Given the description of an element on the screen output the (x, y) to click on. 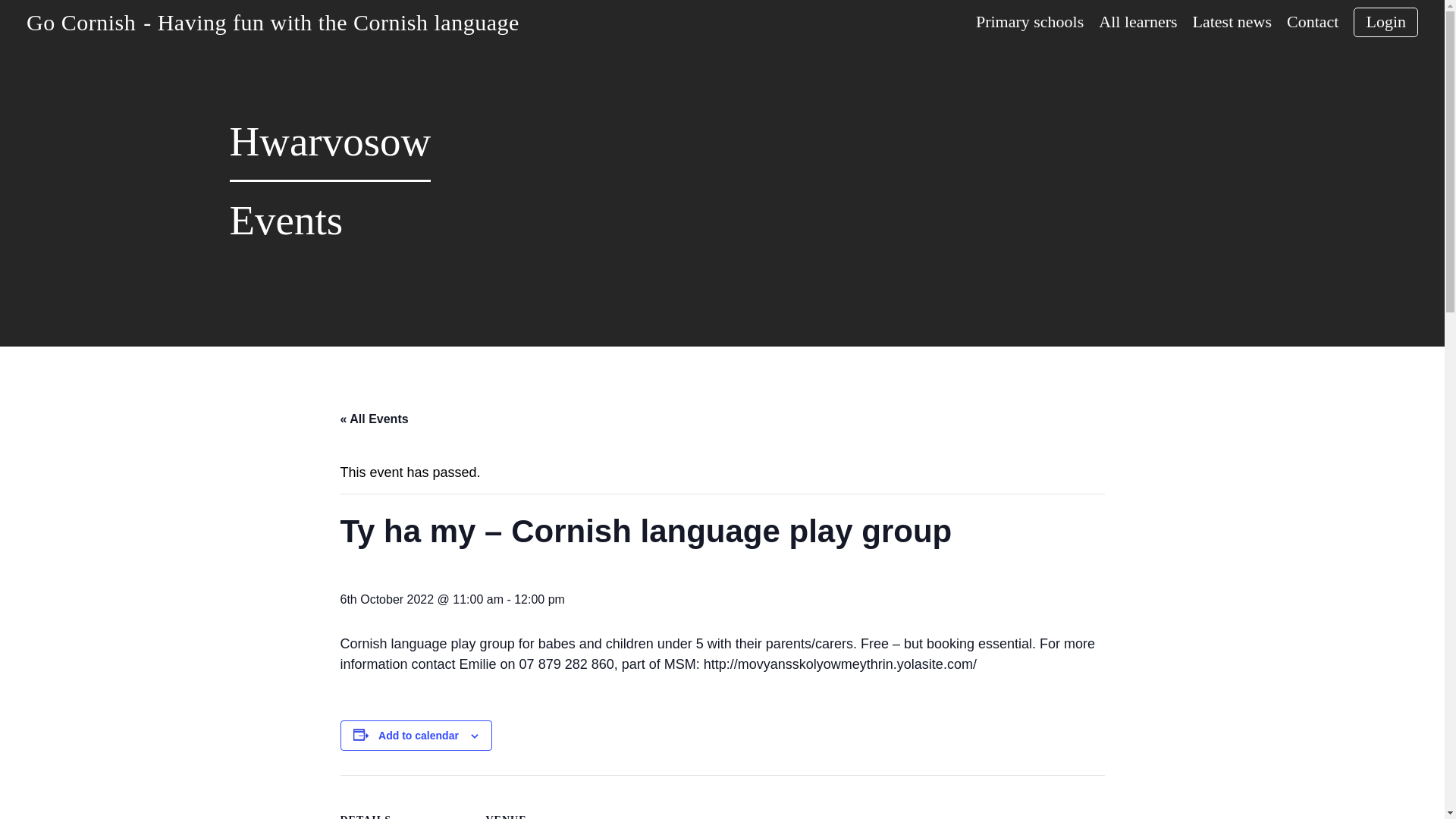
Primary schools (1029, 22)
Contact (1312, 22)
Go Cornish - Having fun with the Cornish language (272, 20)
Login (1386, 21)
All learners (1137, 22)
Latest news (1231, 22)
Add to calendar (418, 735)
